Given the description of an element on the screen output the (x, y) to click on. 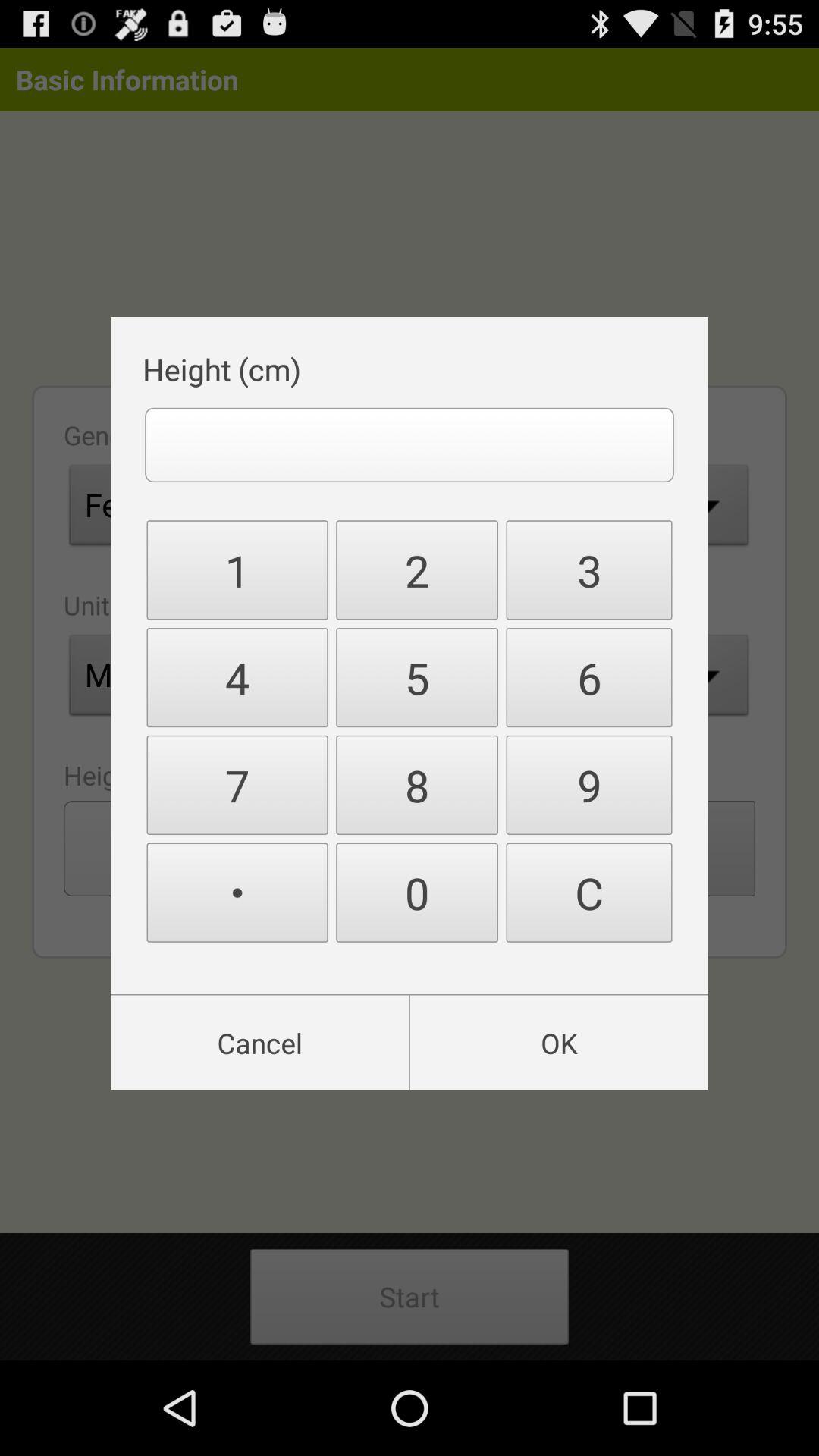
tap item to the left of 5 icon (237, 784)
